Given the description of an element on the screen output the (x, y) to click on. 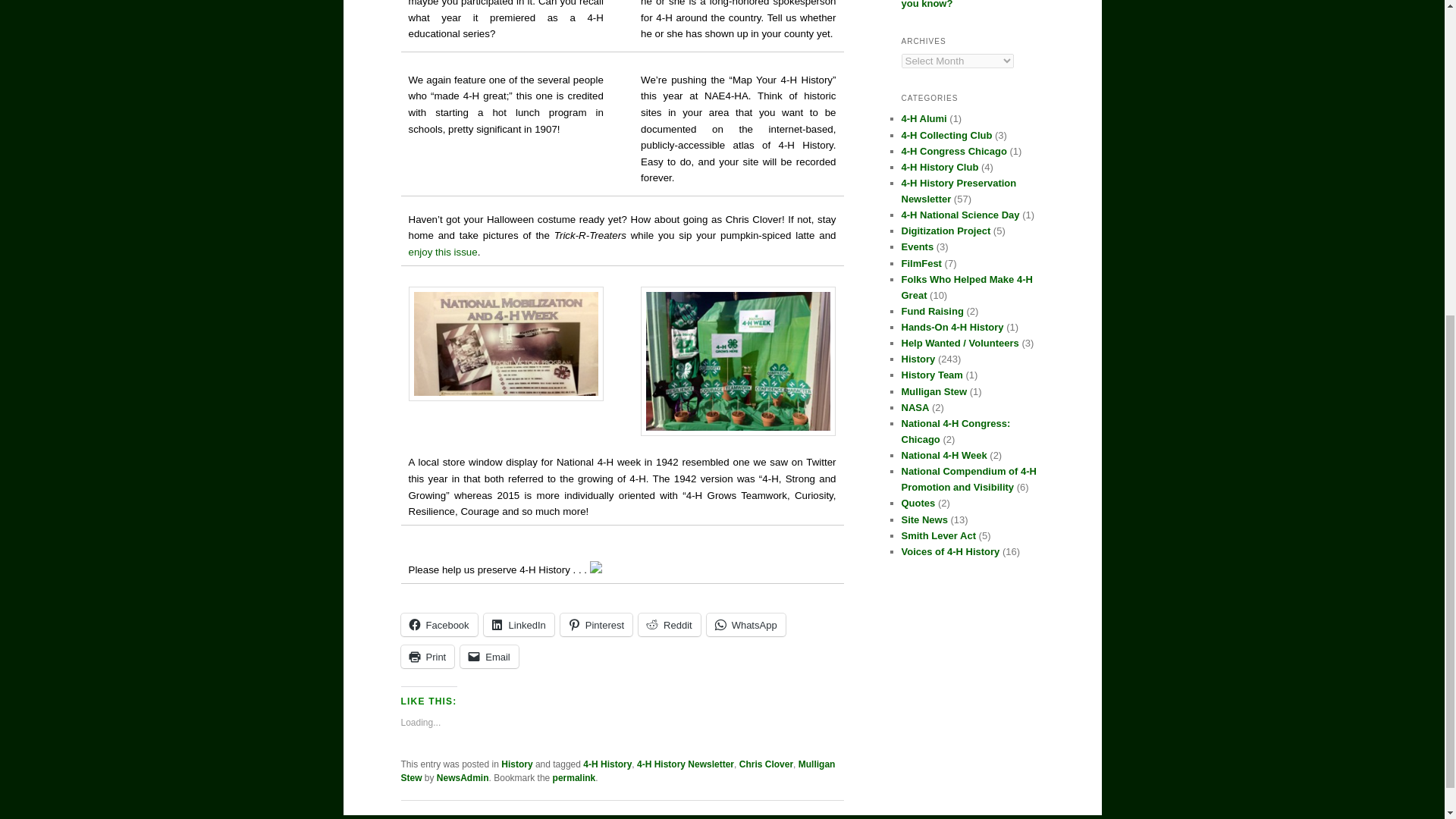
Click to share on Pinterest (595, 624)
Chris Clover (766, 764)
Click to print (427, 656)
Reddit (669, 624)
permalink (574, 777)
History (516, 764)
4-H History Club (939, 166)
Email (489, 656)
Pinterest (595, 624)
Click to email a link to a friend (489, 656)
4-H History Newsletter (685, 764)
enjoy this issue (442, 251)
4-H Congress Chicago (953, 151)
WhatsApp (746, 624)
4-H Collecting Club (946, 134)
